Given the description of an element on the screen output the (x, y) to click on. 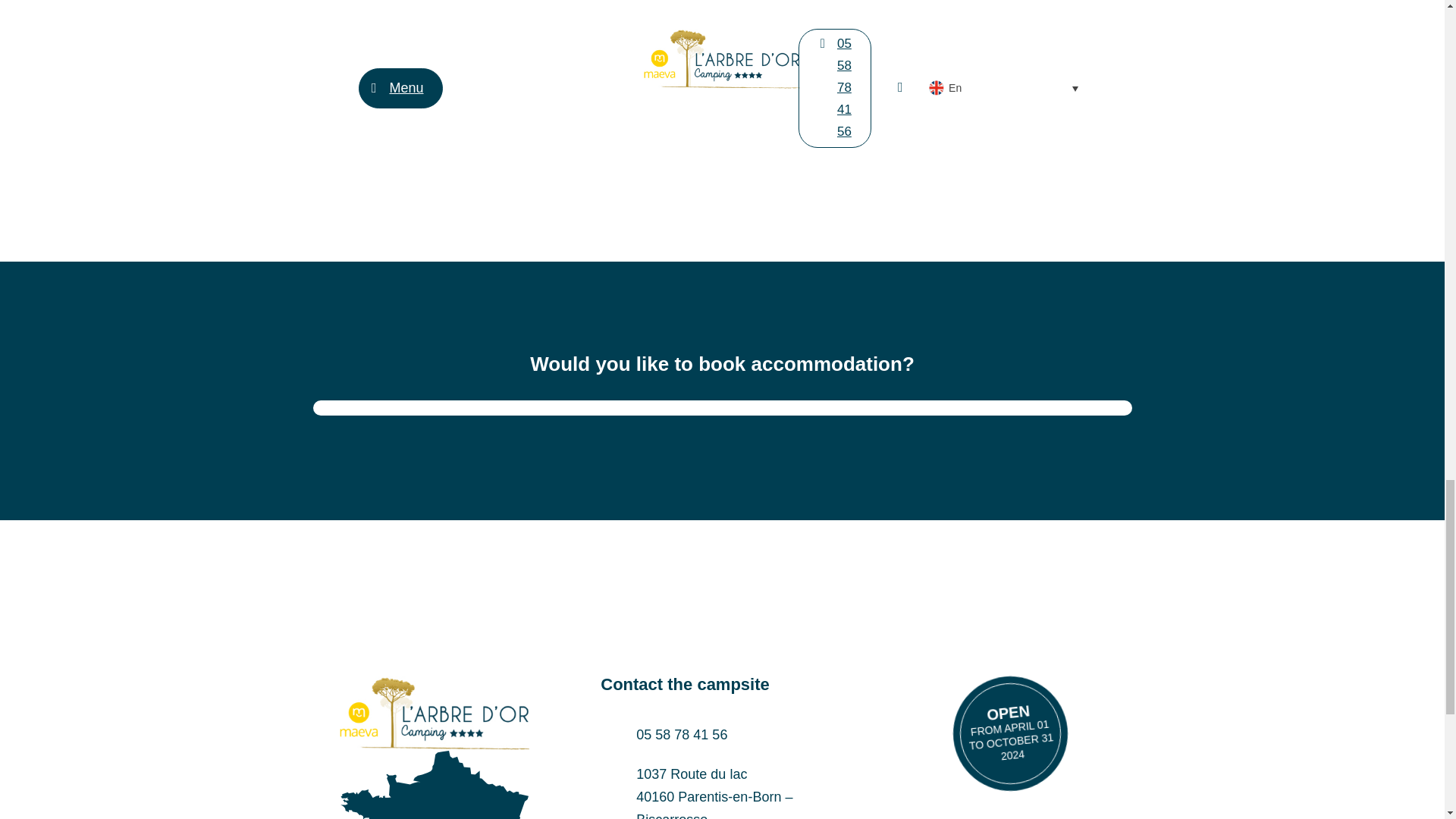
Logos Maeva Arbre Dor Mobile (434, 713)
Camping Bord De Lac Biscarrosse (434, 785)
